Given the description of an element on the screen output the (x, y) to click on. 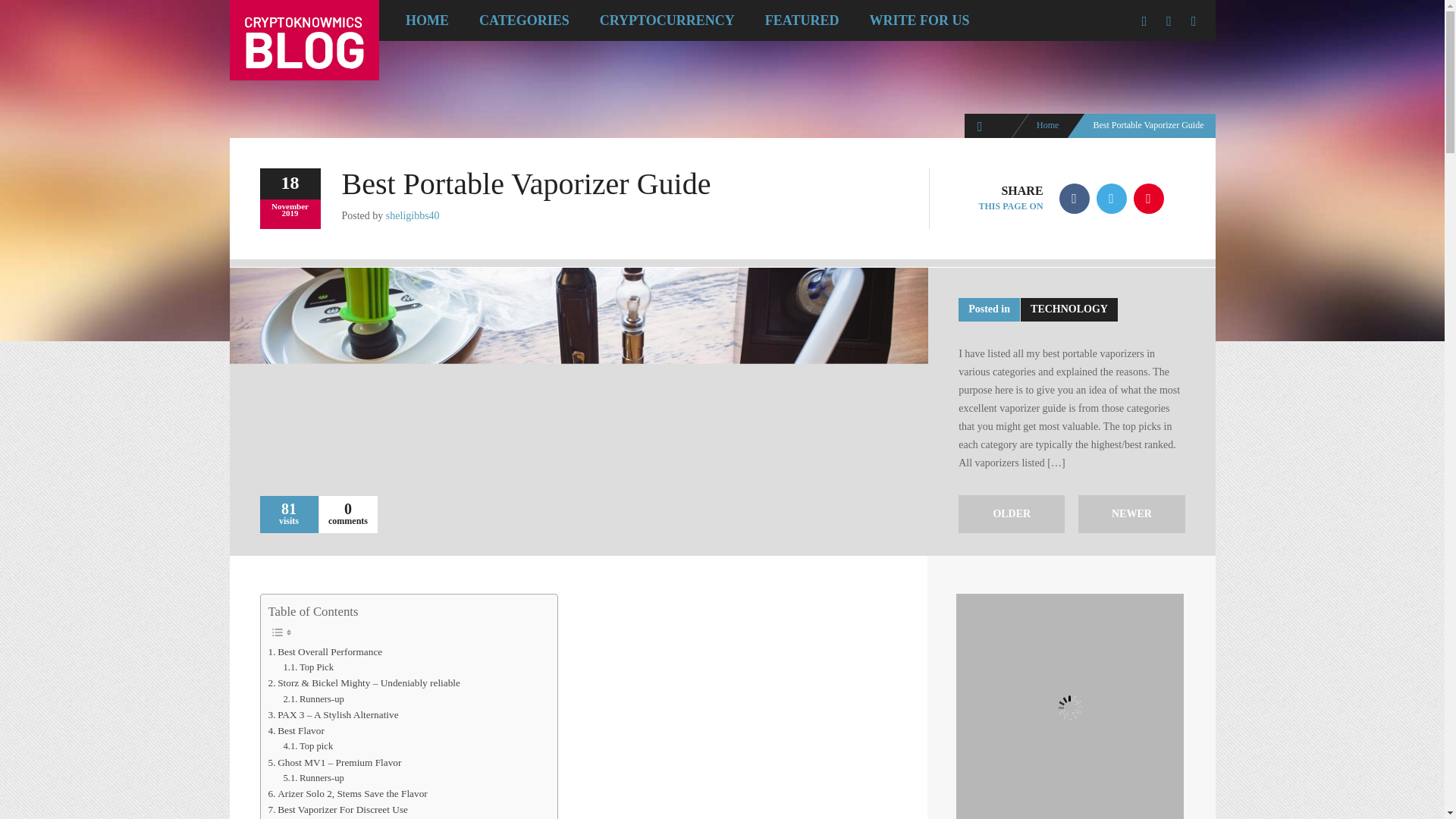
November (289, 205)
CATEGORIES (524, 20)
0 (347, 508)
Link to monthly archives: November (289, 205)
WRITE FOR US (918, 20)
HOME (427, 20)
Best Overall Performance (324, 651)
18 (289, 183)
sheligibbs40 (412, 215)
Comments on Best Portable Vaporizer Guide (347, 508)
View all posts by sheligibbs40 (412, 215)
FEATURED (801, 20)
Crypto Blog - By Cryptoknowmics (1047, 124)
Link to yearly archives: 2019 (289, 212)
Top pick (307, 745)
